Given the description of an element on the screen output the (x, y) to click on. 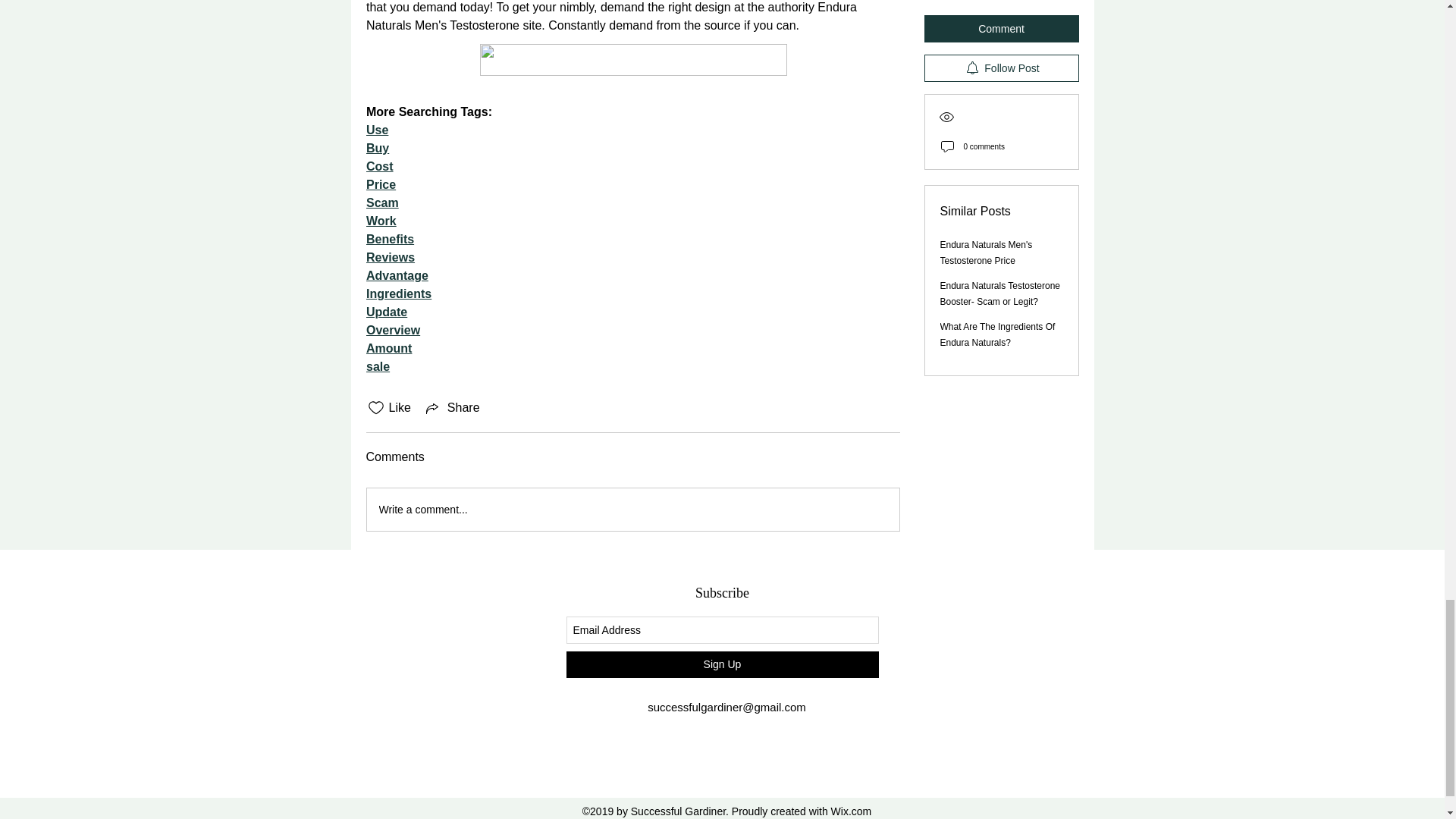
Reviews (389, 256)
Benefits (389, 238)
Price (379, 184)
Work (380, 220)
Overview (392, 329)
Use (376, 129)
Amount (387, 348)
Update (385, 311)
sale (376, 366)
Cost (379, 165)
